Given the description of an element on the screen output the (x, y) to click on. 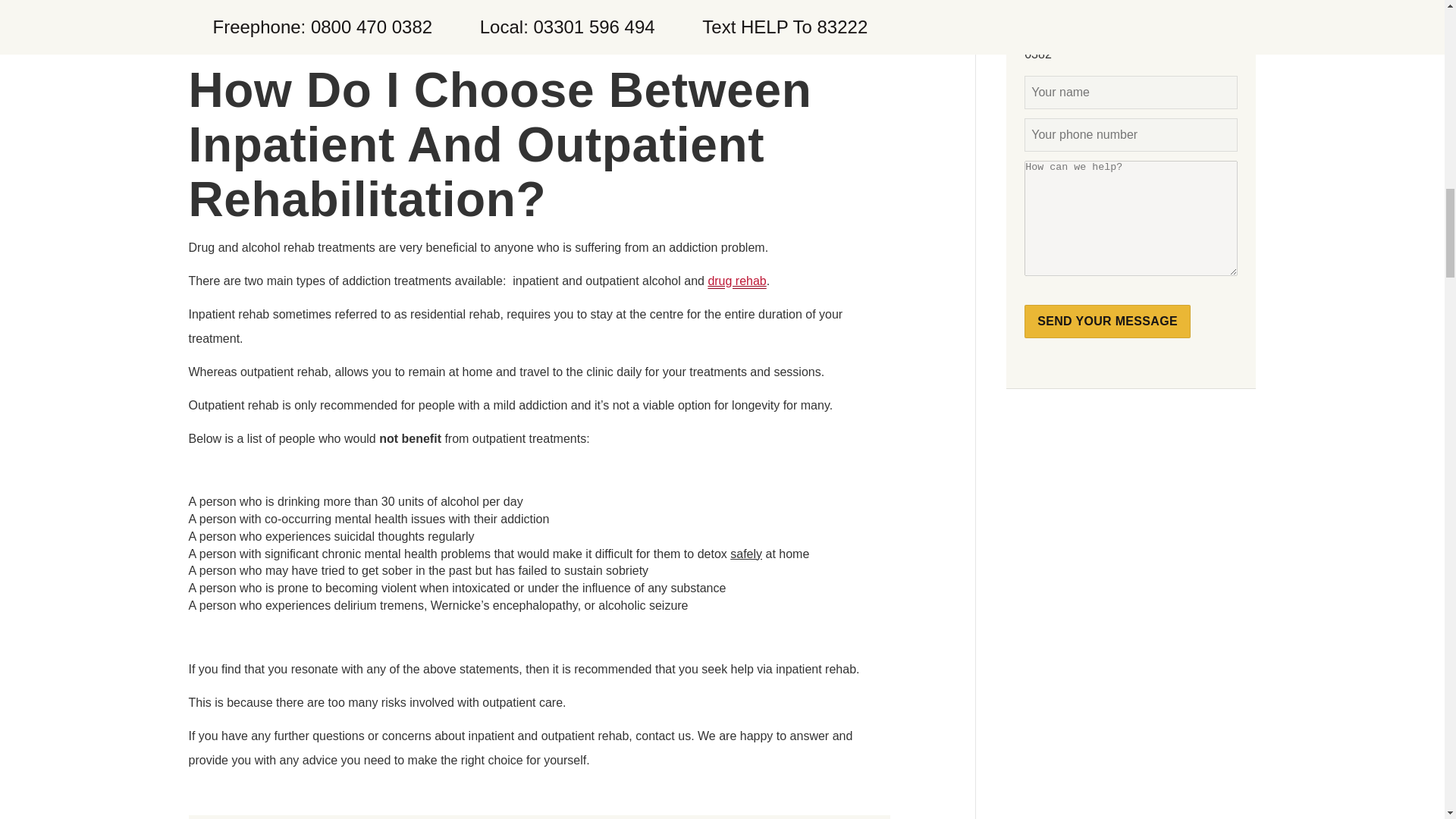
Send Your Message (1108, 321)
